Given the description of an element on the screen output the (x, y) to click on. 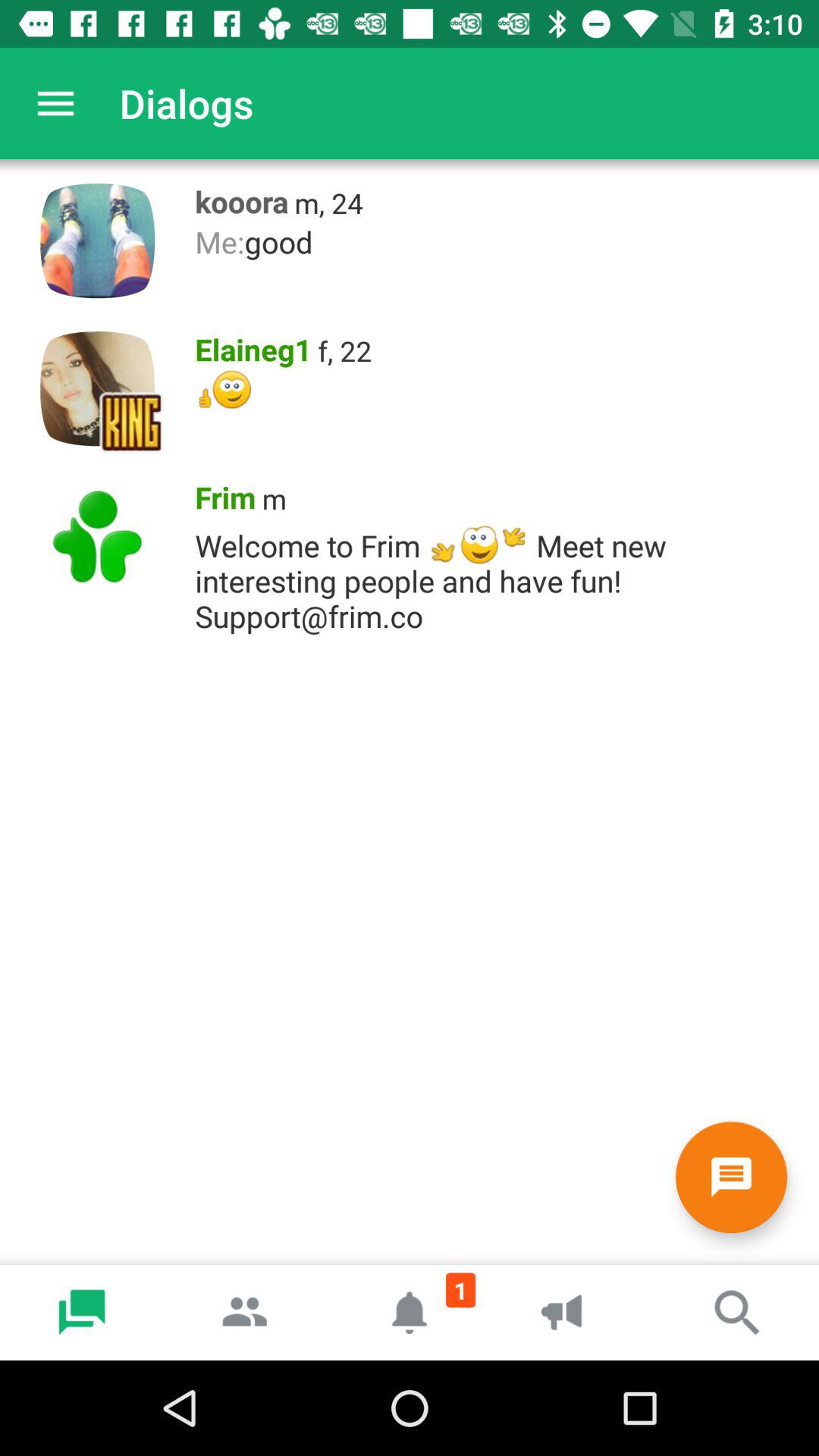
flip to the kooora icon (236, 198)
